Given the description of an element on the screen output the (x, y) to click on. 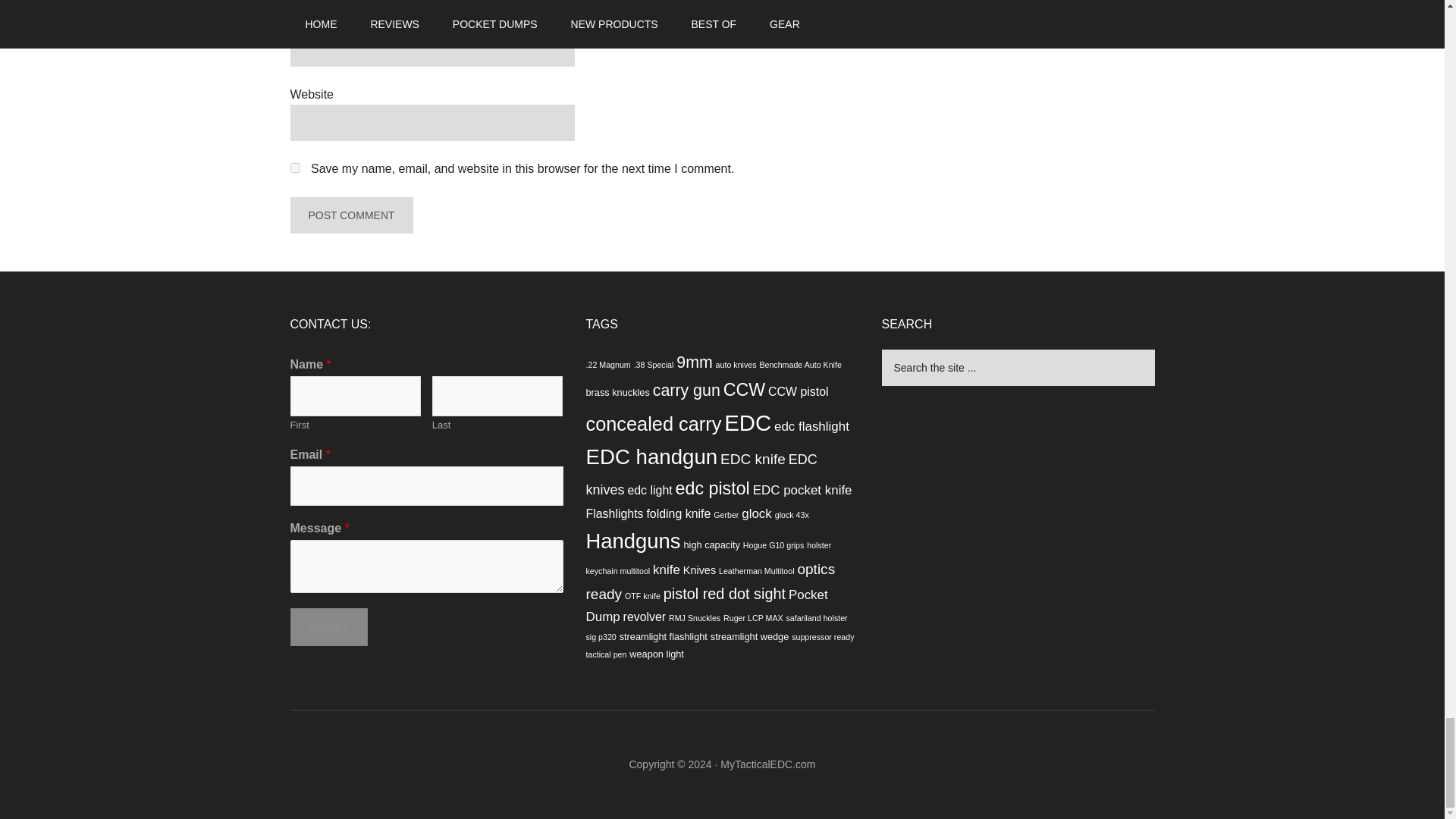
yes (294, 167)
Post Comment (350, 215)
Post Comment (350, 215)
